Given the description of an element on the screen output the (x, y) to click on. 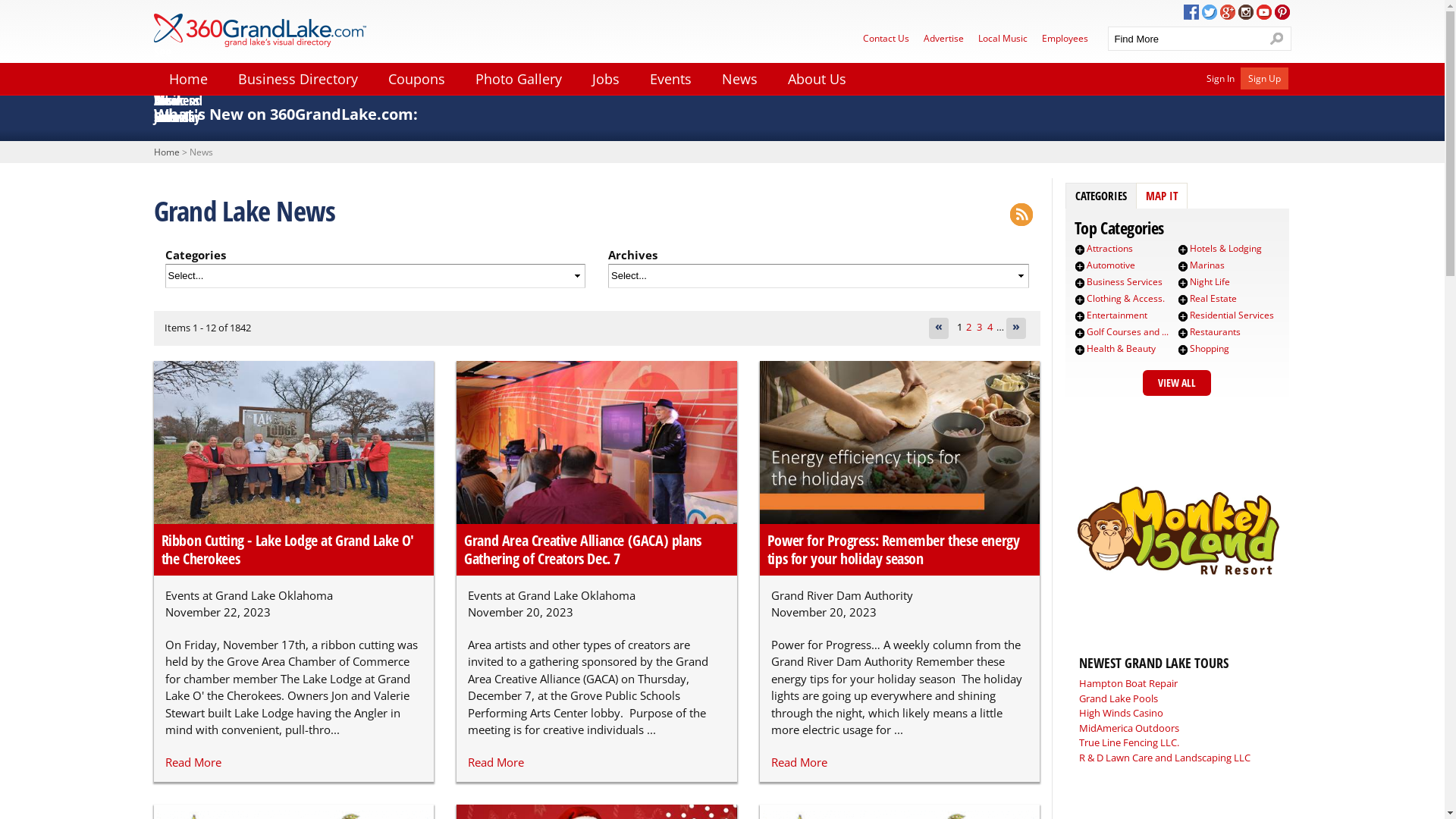
About Us Element type: text (815, 78)
Night Life Element type: text (1209, 281)
2 Element type: text (968, 326)
Grand Lake Pools Element type: text (1117, 698)
Search Element type: text (1276, 38)
Twitter Element type: text (1208, 11)
Golf Courses and ... Element type: text (1127, 331)
View RSS Feed Element type: text (1020, 214)
+ Element type: text (1182, 299)
Employees Element type: text (1064, 37)
Ribbon Cutting - Lake Lodge at Grand Lake O' the Cherokees Element type: text (286, 549)
+ Element type: text (1079, 315)
Ribbon Cutting - Lake Lodge at Grand Lake O' the Cherokees Element type: hover (293, 442)
R & D Lawn Care and Landscaping LLC Element type: text (1163, 757)
True Line Fencing LLC. Element type: text (1128, 742)
Sign Up Element type: text (1264, 77)
Instagram Element type: text (1244, 11)
+ Element type: text (1182, 349)
News Element type: text (739, 78)
Monkey Island RV Resort  Element type: hover (1176, 621)
Events Element type: text (669, 78)
Contact Us Element type: text (885, 37)
Read More Element type: text (193, 761)
+ Element type: text (1182, 282)
Read More Element type: text (495, 761)
Clothing & Access. Element type: text (1125, 297)
Home Element type: text (165, 151)
Advertise Element type: text (943, 37)
Business Directory Element type: text (297, 78)
Entertainment Element type: text (1116, 314)
Shopping Element type: text (1209, 348)
4 Element type: text (989, 326)
Hotels & Lodging Element type: text (1225, 247)
+ Element type: text (1182, 315)
Local Music Element type: text (1002, 37)
Attractions Element type: text (1109, 247)
Residential Services Element type: text (1231, 314)
Home Element type: text (187, 78)
Google+ Element type: text (1226, 11)
Pinterest Element type: text (1281, 11)
YouTube Element type: text (1262, 11)
+ Element type: text (1182, 265)
Sign In Element type: text (1219, 77)
1 Element type: text (959, 326)
Find More Element type: hover (1184, 38)
+ Element type: text (1182, 332)
Restaurants Element type: text (1214, 331)
+ Element type: text (1079, 332)
Business Services Element type: text (1124, 281)
Coupons Element type: text (416, 78)
MAP IT Element type: text (1161, 195)
Real Estate Element type: text (1212, 297)
+ Element type: text (1079, 299)
Marinas Element type: text (1206, 264)
Automotive Element type: text (1110, 264)
VIEW ALL Element type: text (1176, 382)
Photo Gallery Element type: text (517, 78)
CATEGORIES Element type: text (1100, 195)
MidAmerica Outdoors Element type: text (1128, 727)
Facebook Element type: text (1190, 11)
High Winds Casino Element type: text (1120, 712)
+ Element type: text (1079, 265)
Read More Element type: text (799, 761)
Jobs Element type: text (604, 78)
+ Element type: text (1079, 282)
+ Element type: text (1182, 249)
3 Element type: text (979, 326)
+ Element type: text (1079, 349)
+ Element type: text (1079, 249)
Health & Beauty Element type: text (1120, 348)
Hampton Boat Repair Element type: text (1127, 683)
